Given the description of an element on the screen output the (x, y) to click on. 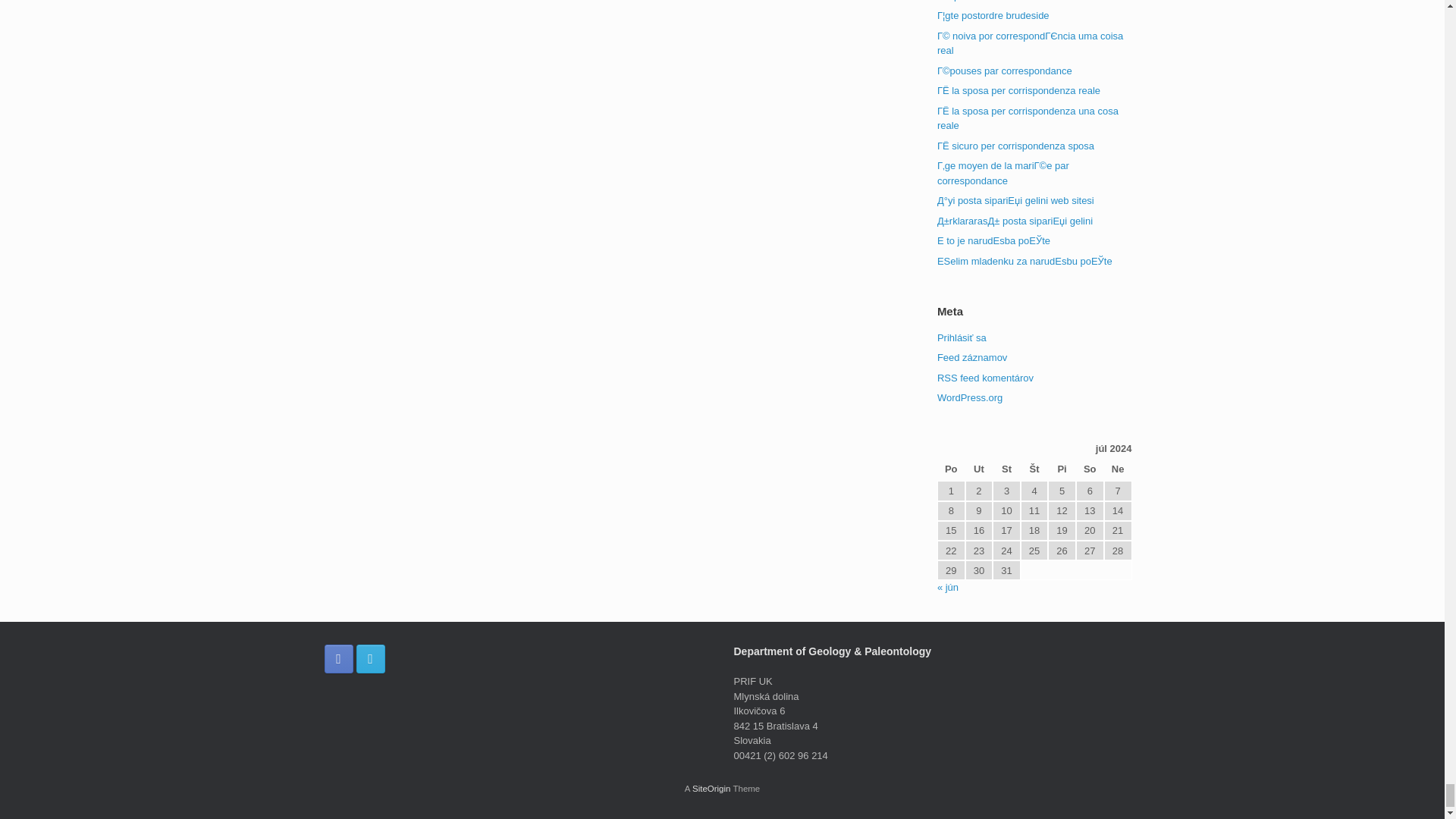
piatok (1061, 470)
utorok (978, 470)
streda (1006, 470)
pondelok (951, 470)
sobota (1089, 470)
